Given the description of an element on the screen output the (x, y) to click on. 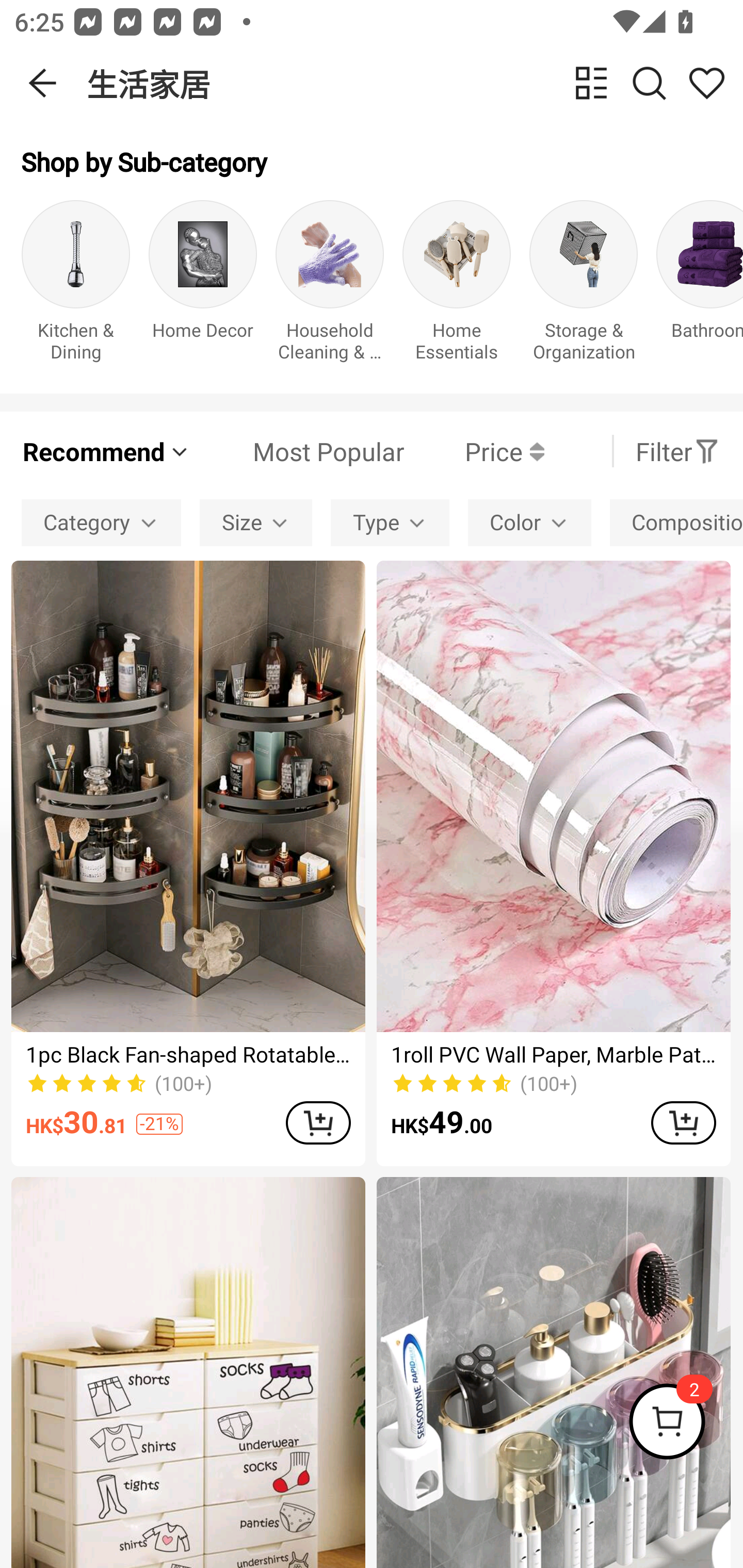
生活家居 change view Search Share (414, 82)
change view (591, 82)
Search (648, 82)
Share (706, 82)
Kitchen & Dining (75, 285)
Home Decor (202, 285)
Household Cleaning & Personal Care (329, 285)
Home Essentials (456, 285)
Storage & Organization (583, 285)
Bathroom (699, 285)
Recommend (106, 450)
Most Popular (297, 450)
Price (474, 450)
Filter (677, 450)
Category (101, 521)
Size (255, 521)
Type (389, 521)
Color (529, 521)
Composition (676, 521)
ADD TO CART (318, 1122)
ADD TO CART (683, 1122)
1set Toothbrush Holder With 2 Cups (553, 1372)
